Given the description of an element on the screen output the (x, y) to click on. 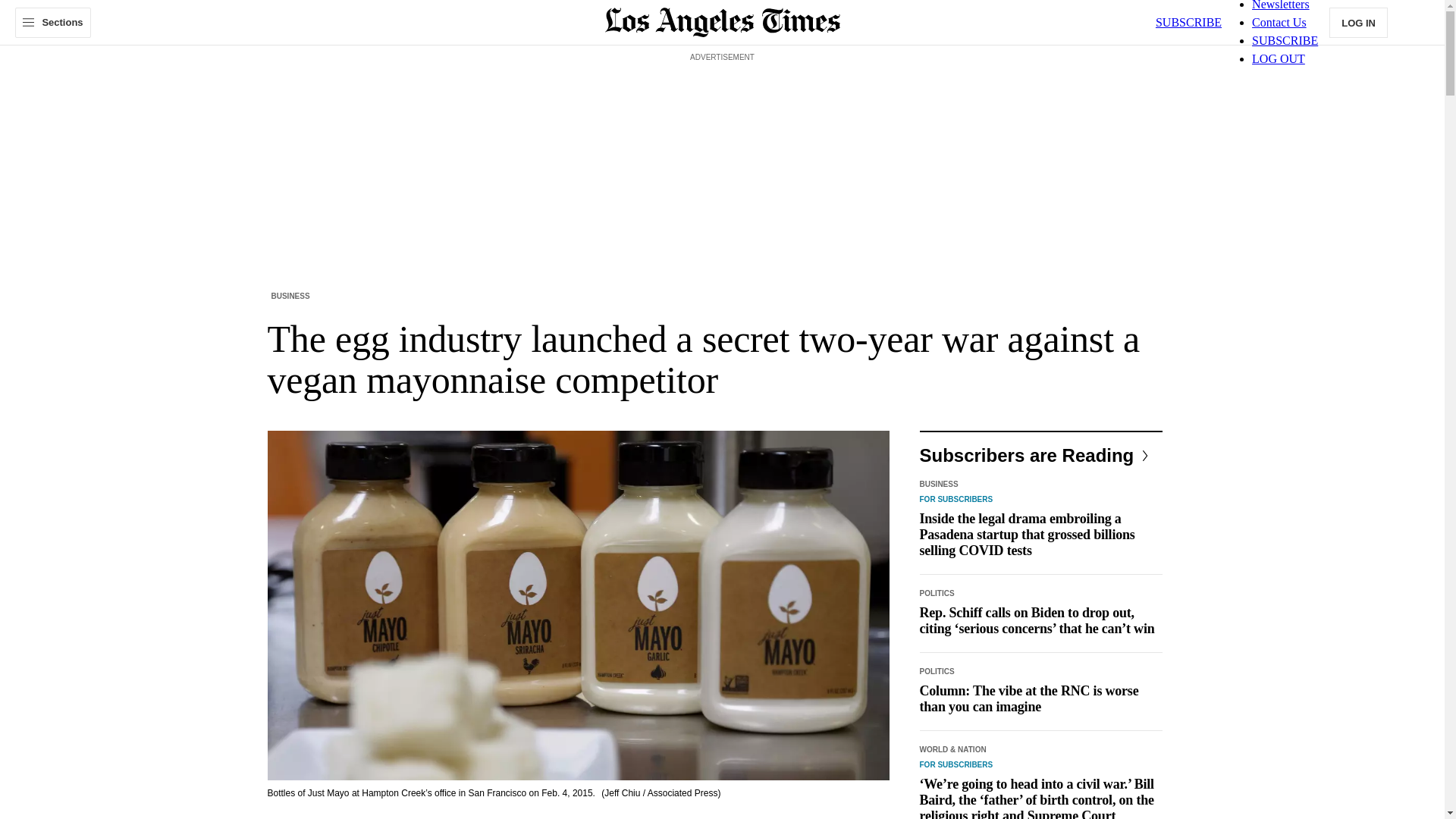
3rd party ad content (721, 100)
